Given the description of an element on the screen output the (x, y) to click on. 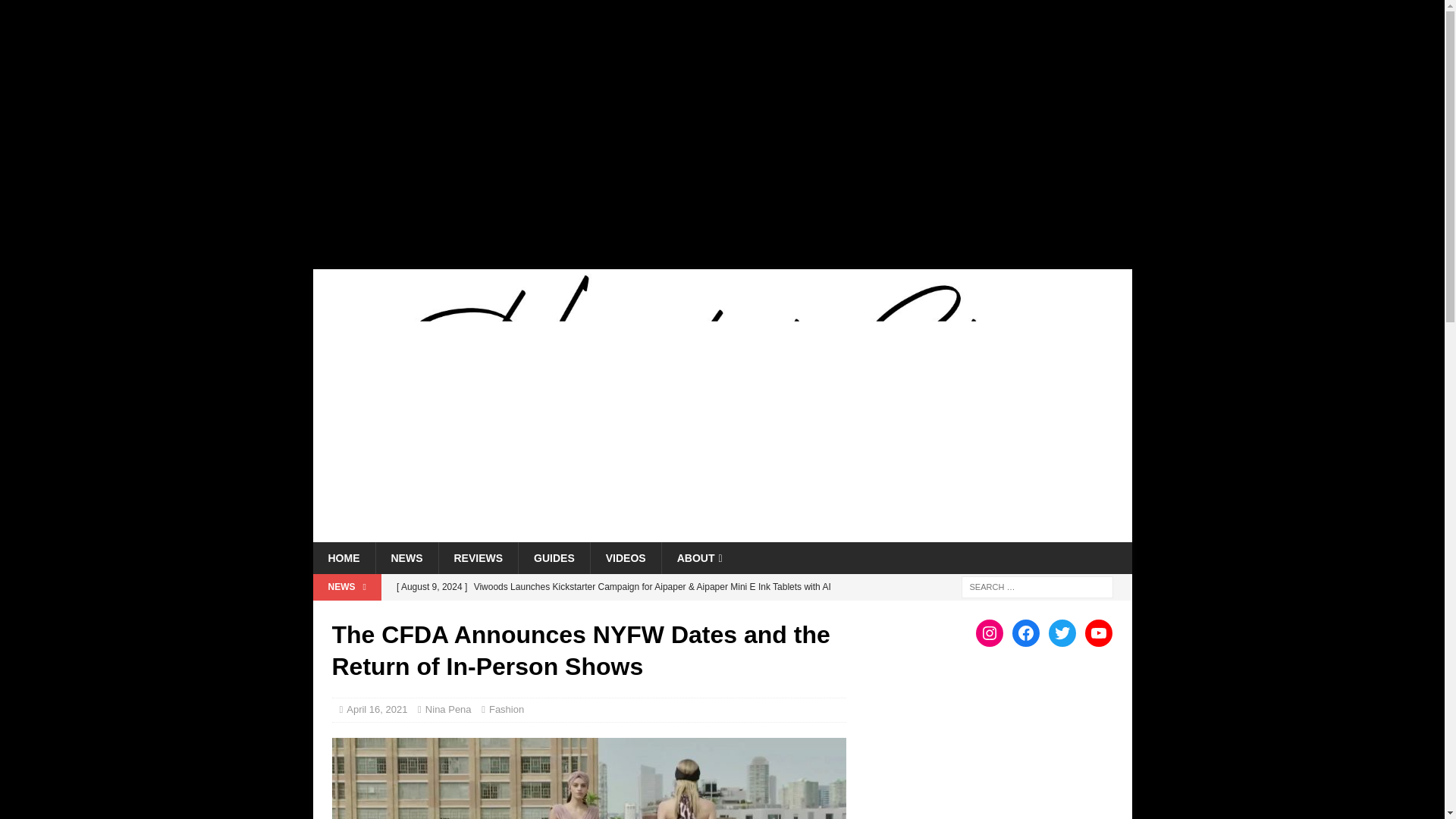
NEWS (406, 558)
Bronx 4 (588, 778)
April 16, 2021 (376, 708)
HOME (343, 558)
ABOUT (699, 558)
REVIEWS (478, 558)
Hi-tech Chic (722, 532)
VIDEOS (625, 558)
Nina Pena (448, 708)
Search (56, 11)
